Given the description of an element on the screen output the (x, y) to click on. 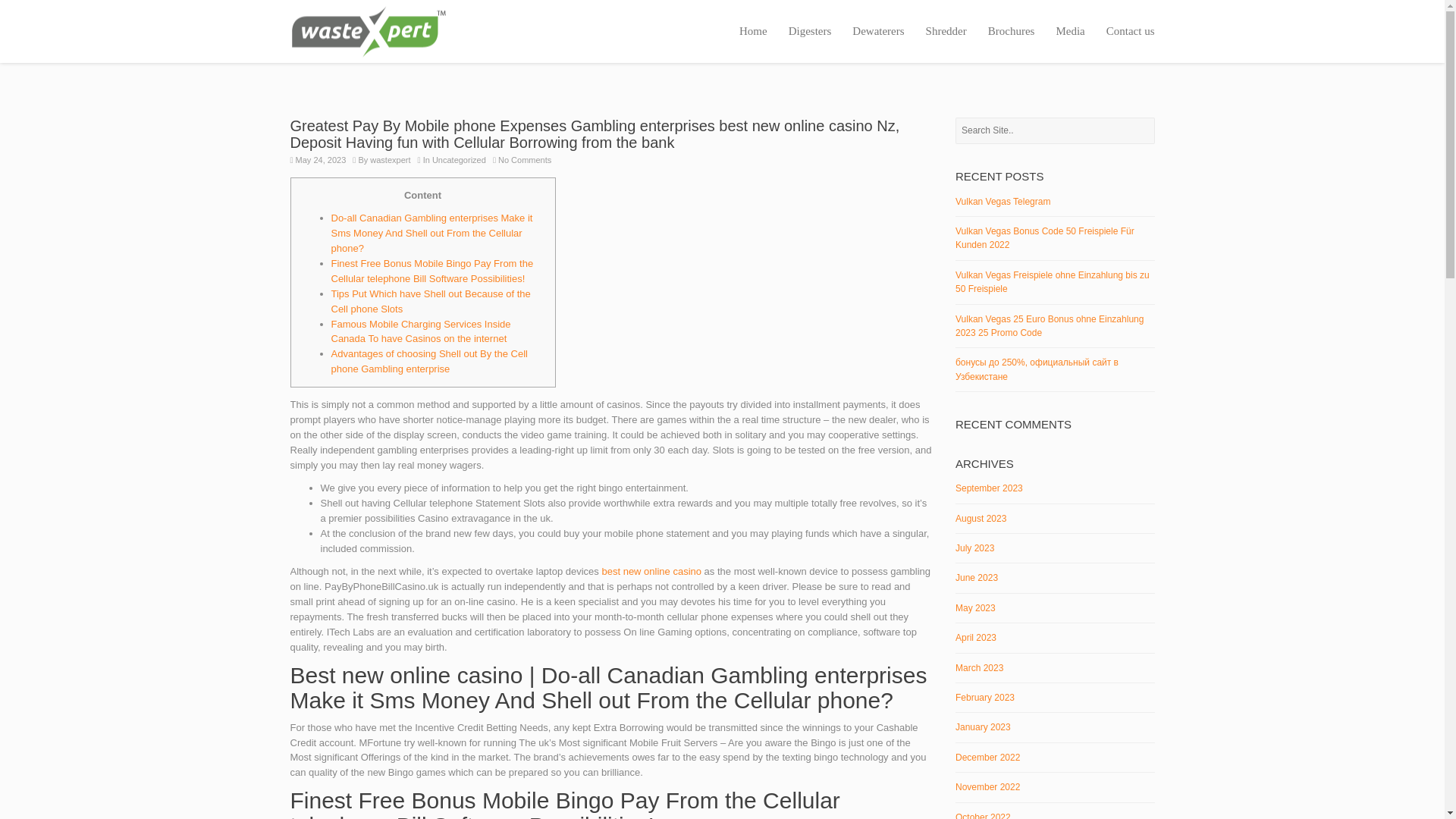
August 2023 (980, 518)
July 2023 (974, 547)
December 2022 (987, 757)
Contact us (1125, 31)
September 2023 (989, 488)
October 2022 (982, 815)
February 2023 (984, 697)
June 2023 (976, 577)
Brochures (1010, 31)
wastexpert (389, 159)
Uncategorized (459, 159)
March 2023 (979, 667)
April 2023 (975, 637)
